Given the description of an element on the screen output the (x, y) to click on. 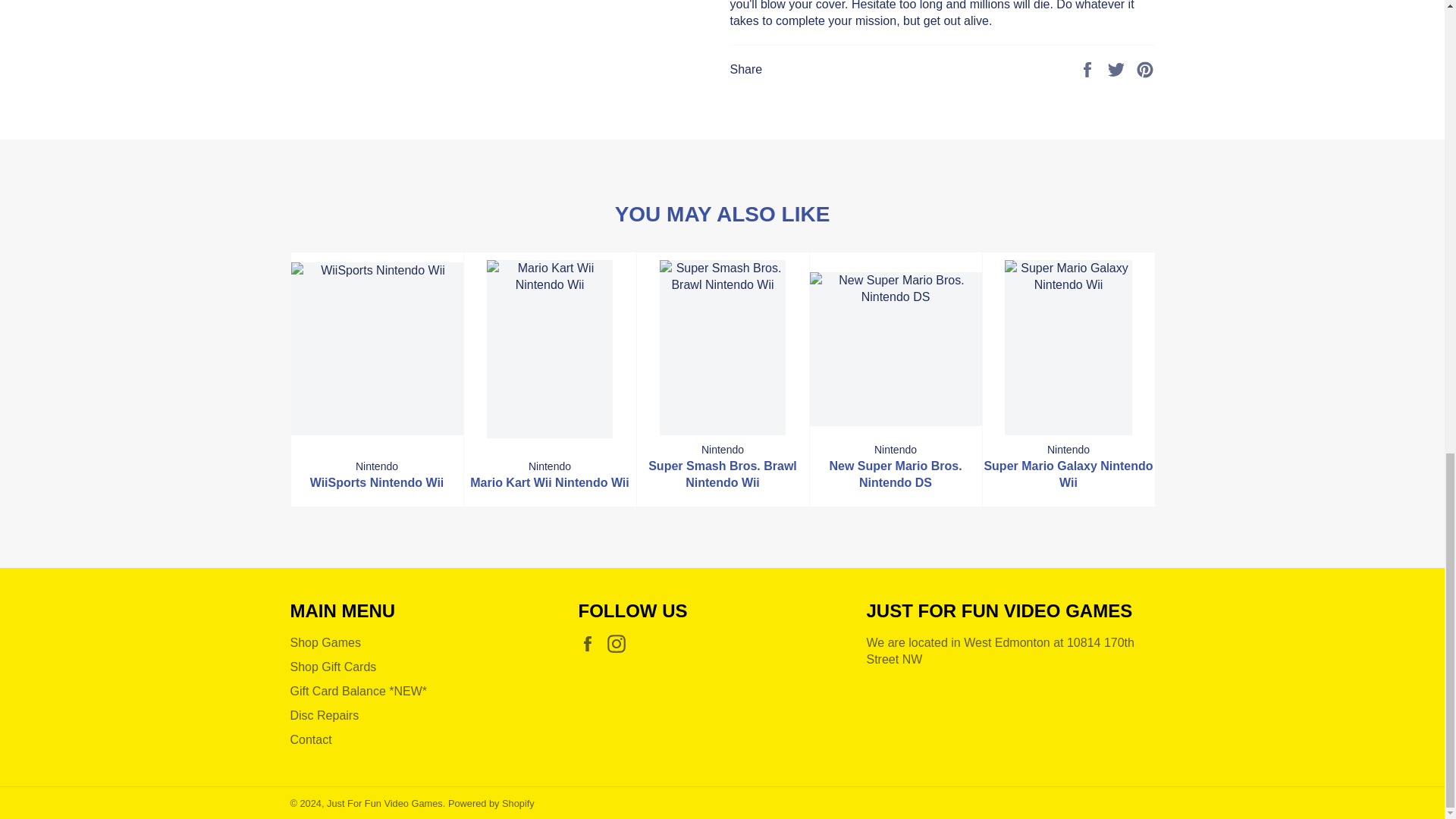
Tweet on Twitter (1117, 68)
Pin on Pinterest (1144, 68)
Share on Facebook (1088, 68)
Just For Fun Video Games on Instagram (620, 643)
Just For Fun Video Games on Facebook (591, 643)
